Given the description of an element on the screen output the (x, y) to click on. 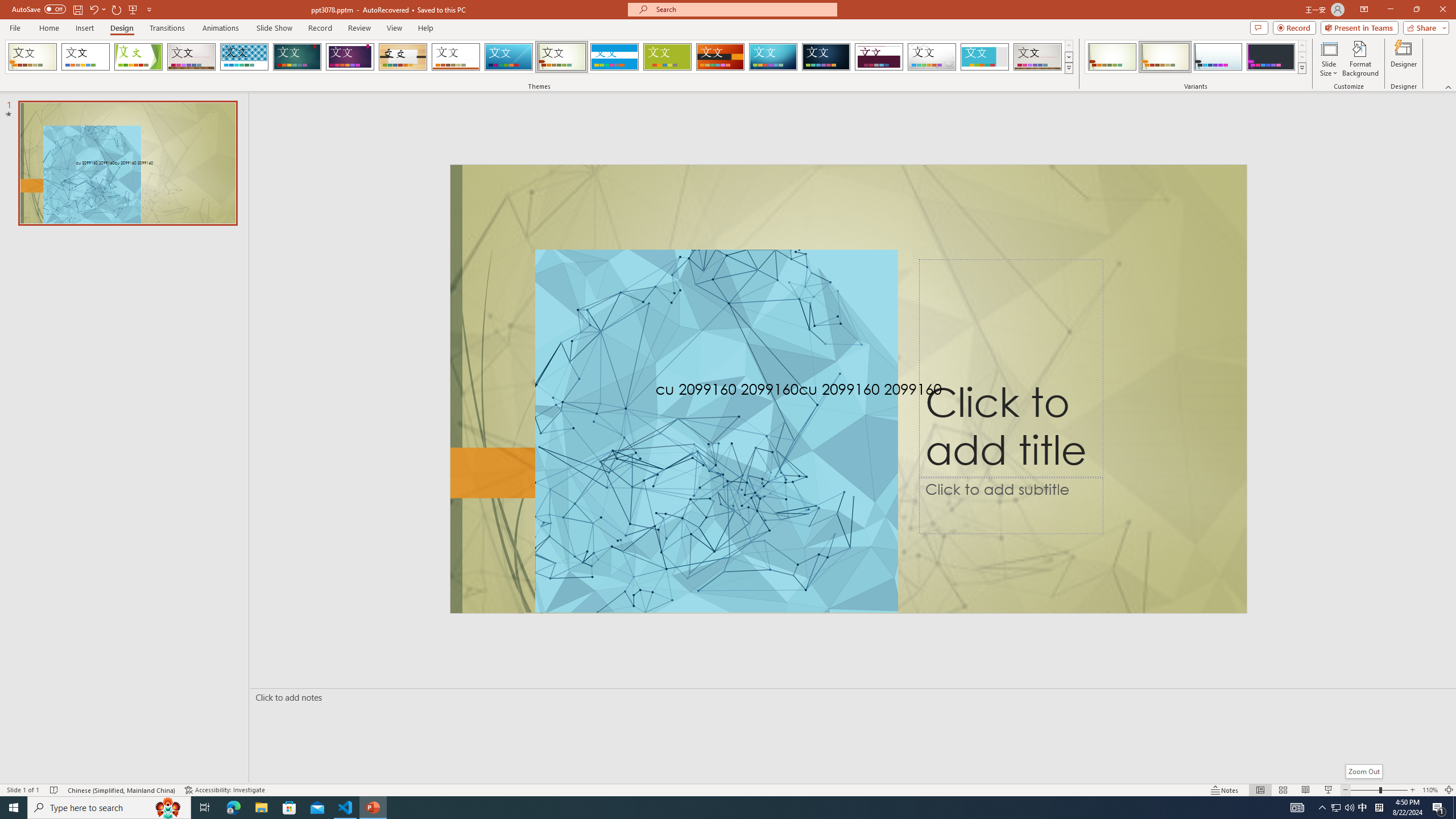
Wisp Variant 4 (1270, 56)
Slice Loading Preview... (508, 56)
Banded Loading Preview... (614, 56)
